Given the description of an element on the screen output the (x, y) to click on. 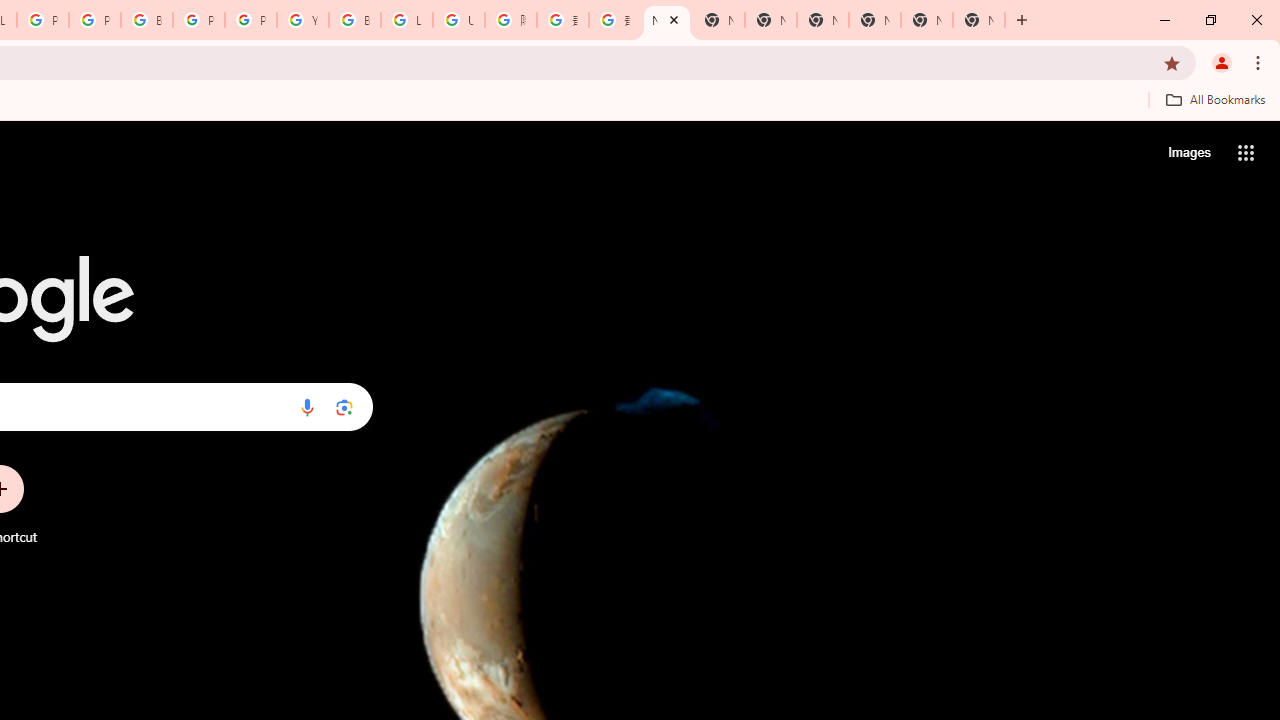
YouTube (302, 20)
Privacy Help Center - Policies Help (42, 20)
